Given the description of an element on the screen output the (x, y) to click on. 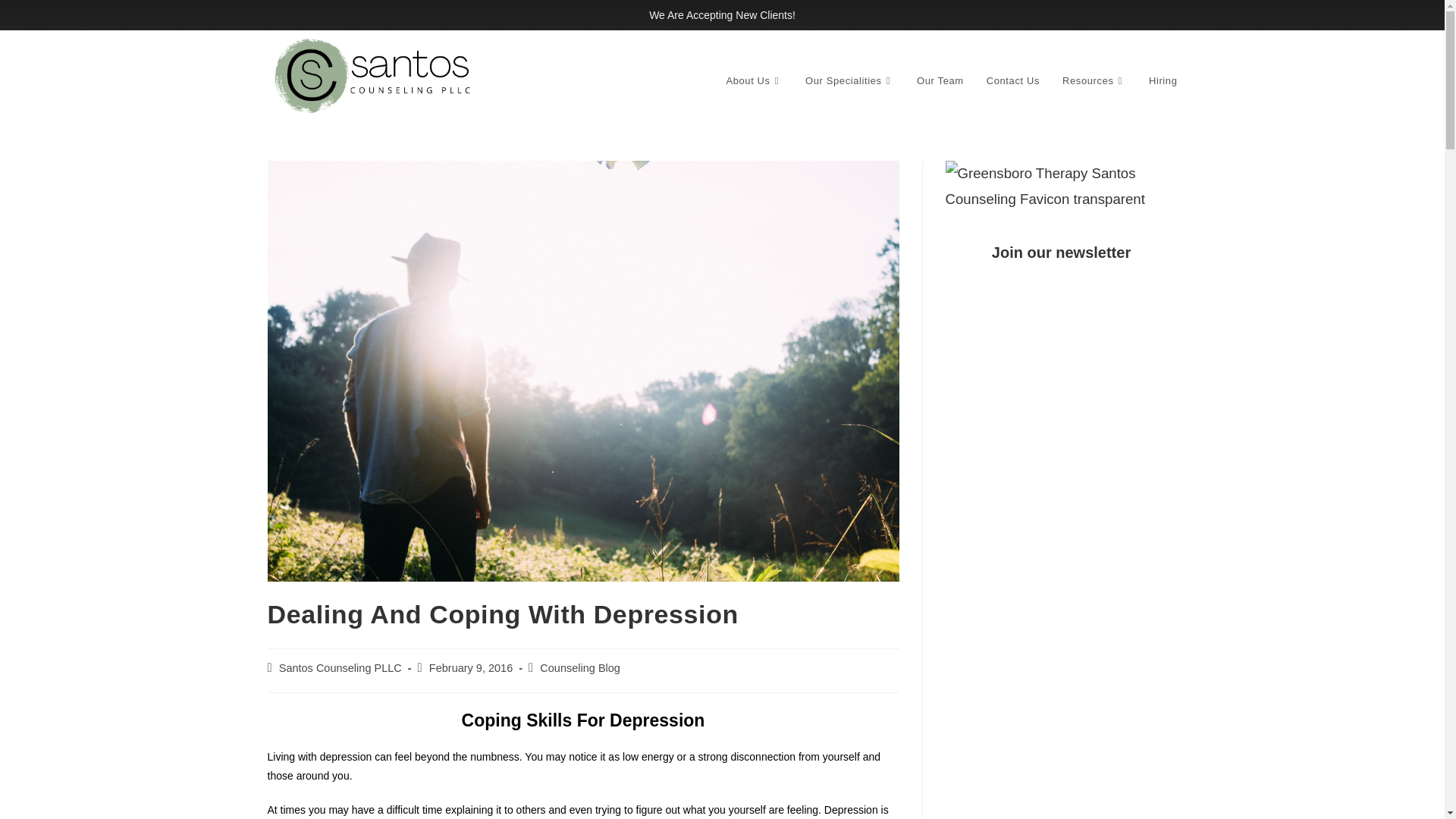
Our Specialities (849, 80)
Our Team (940, 80)
Posts by Santos Counseling PLLC (340, 667)
Contact Us (1013, 80)
About Us (753, 80)
